Given the description of an element on the screen output the (x, y) to click on. 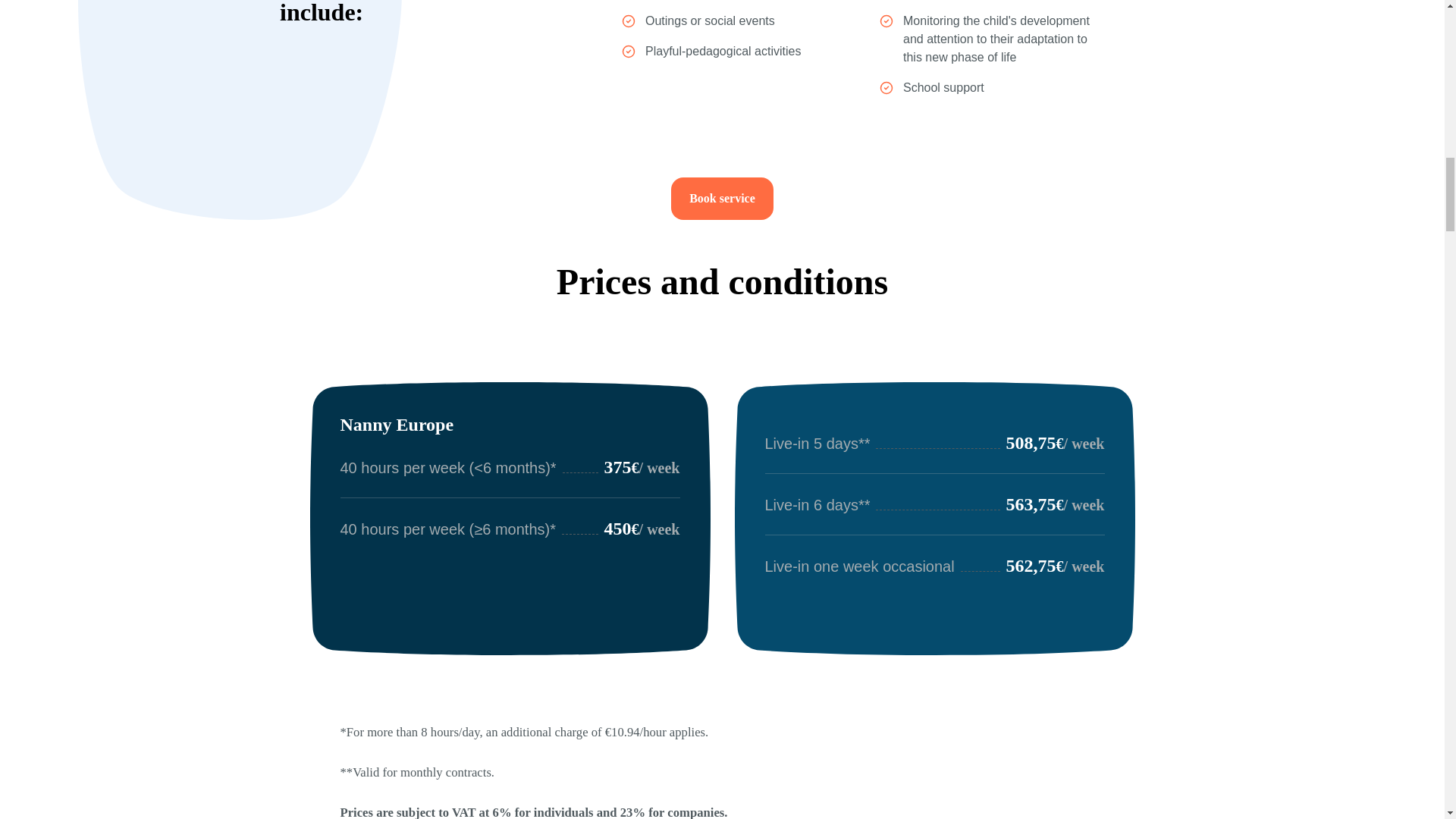
Book service (722, 198)
